Given the description of an element on the screen output the (x, y) to click on. 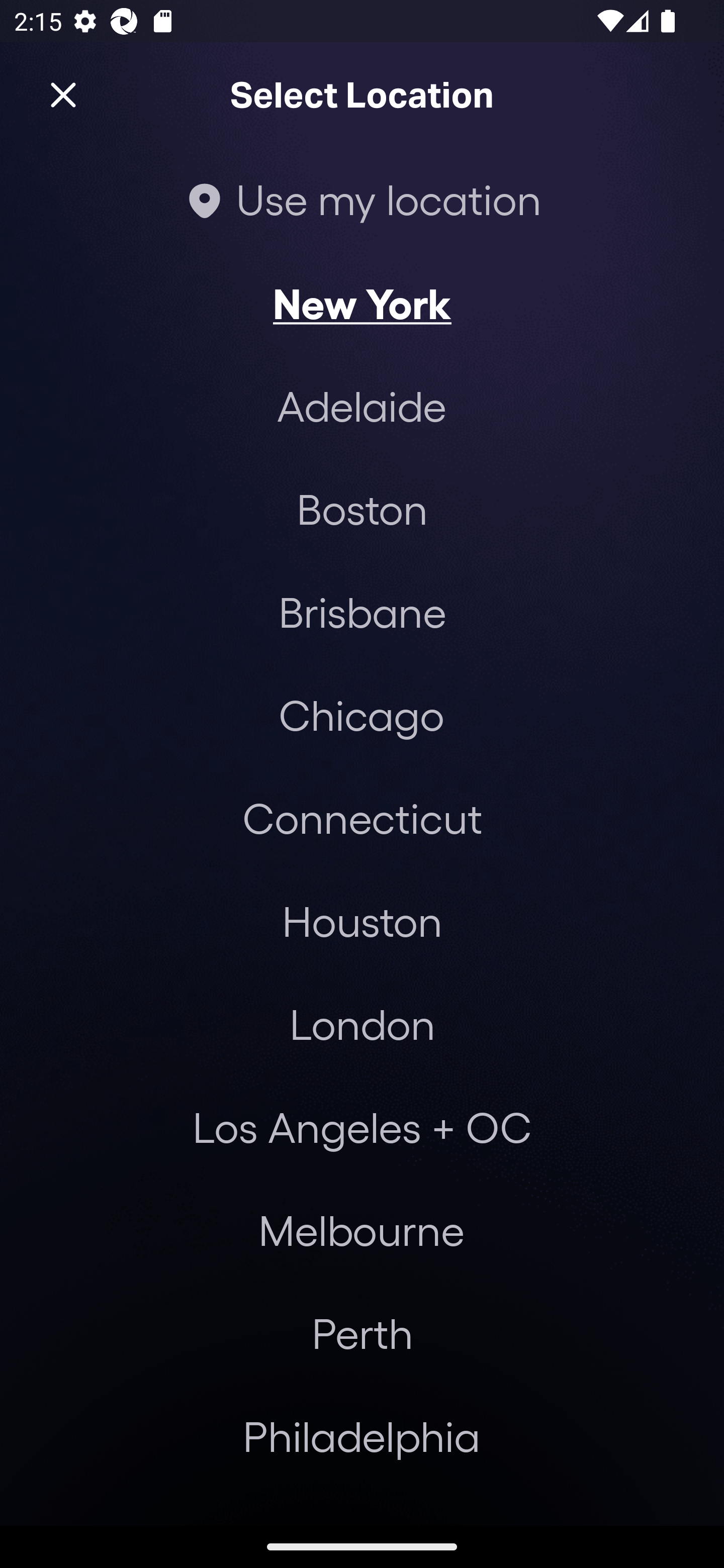
Close (62, 95)
   Use my location (362, 198)
New York (361, 302)
Adelaide (361, 405)
Boston (361, 508)
Brisbane (361, 611)
Chicago (361, 714)
Connecticut (361, 817)
Houston (361, 920)
London (361, 1023)
Los Angeles + OC (361, 1127)
Melbourne (361, 1230)
Perth (361, 1332)
Philadelphia (361, 1436)
